Given the description of an element on the screen output the (x, y) to click on. 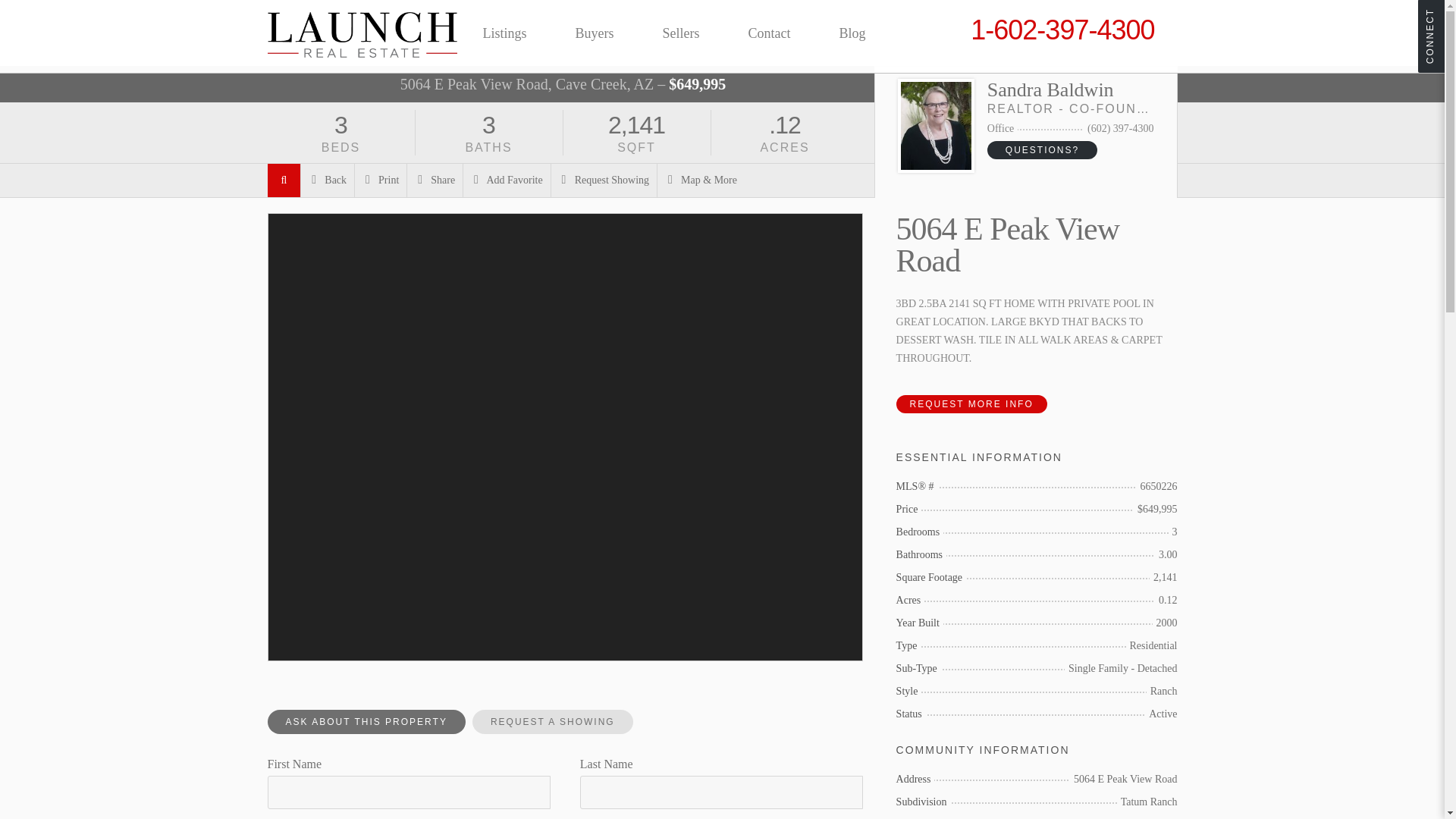
Print (381, 180)
Back (328, 180)
Contact (769, 33)
Listings (504, 33)
Blog (852, 33)
Buyers (594, 33)
Sellers (681, 33)
QUESTIONS? (1042, 149)
Share (435, 180)
Add Favorite (507, 180)
